Given the description of an element on the screen output the (x, y) to click on. 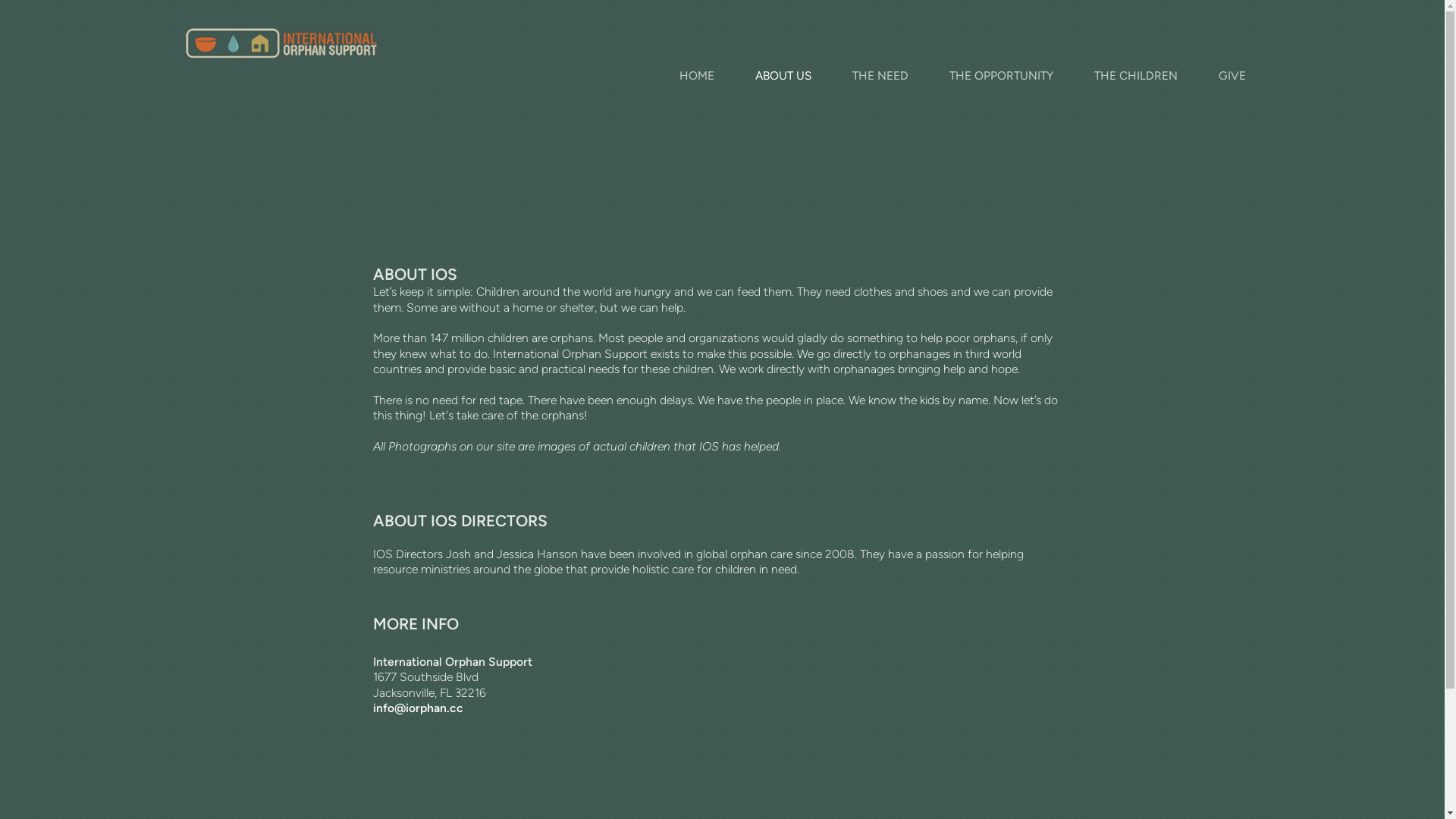
THE OPPORTUNITY Element type: text (1000, 75)
info@iorphan.cc Element type: text (418, 707)
THE CHILDREN Element type: text (1135, 75)
GIVE Element type: text (1232, 75)
THE NEED Element type: text (879, 75)
HOME Element type: text (696, 75)
ABOUT US Element type: text (782, 75)
